Given the description of an element on the screen output the (x, y) to click on. 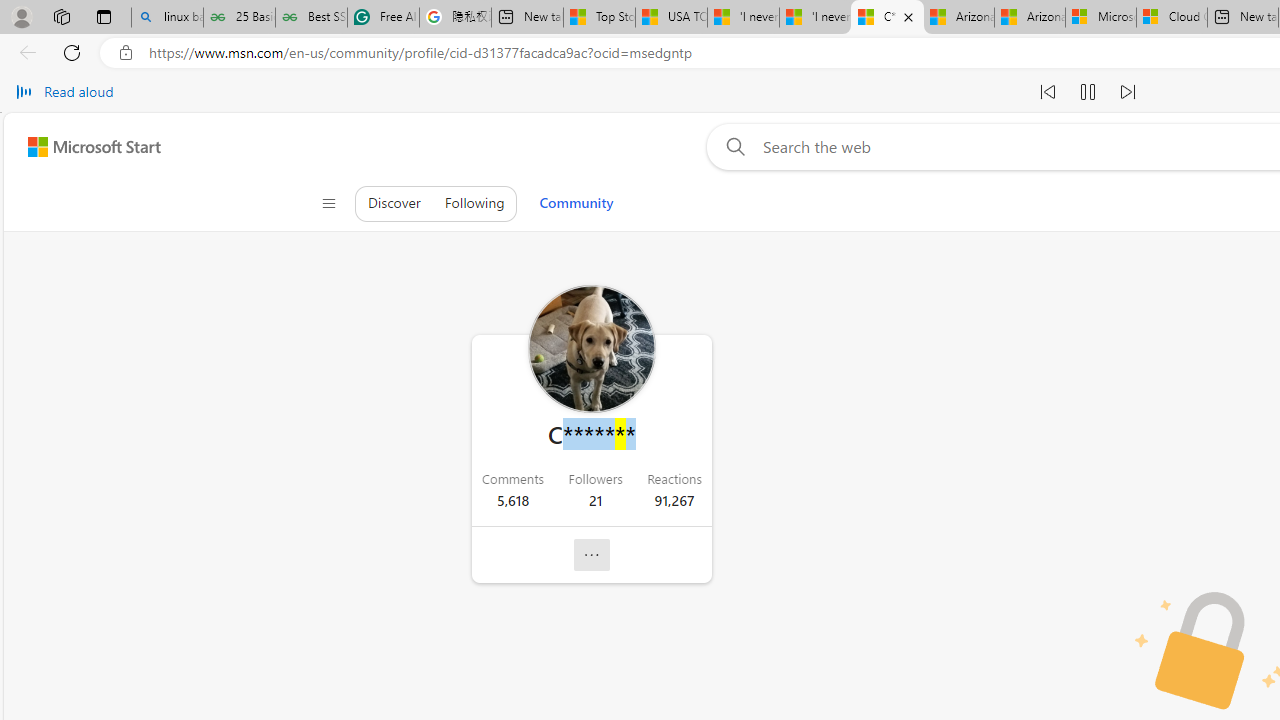
Report profile (591, 554)
Class: cwt-icon-vector (591, 555)
Read previous paragraph (1047, 92)
Community (576, 202)
Best SSL Certificates Provider in India - GeeksforGeeks (311, 17)
Read next paragraph (1128, 92)
linux basic - Search (167, 17)
